Given the description of an element on the screen output the (x, y) to click on. 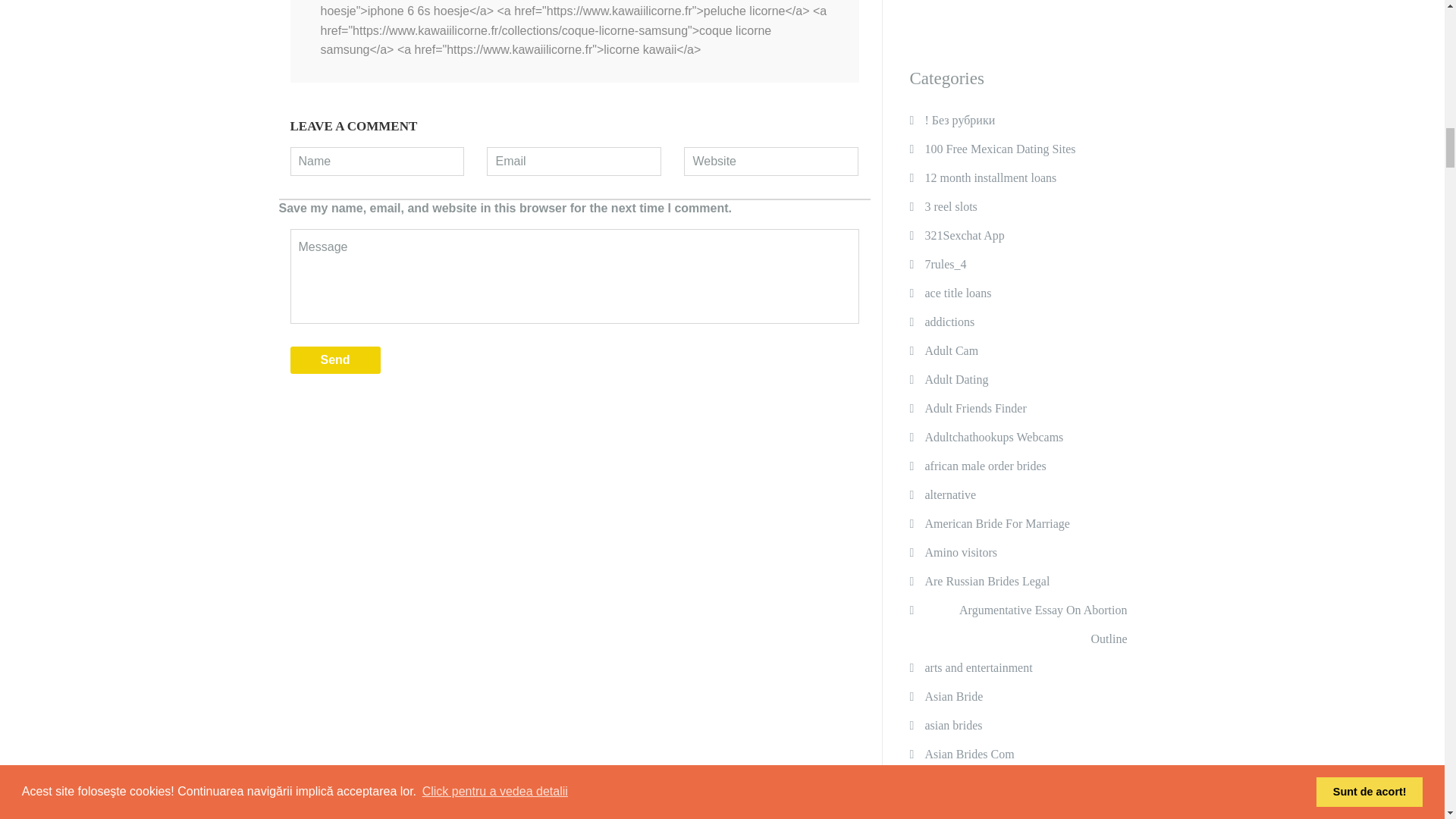
arts and entertainment (978, 667)
Send (334, 359)
Send (334, 359)
alternative (949, 494)
addictions (949, 321)
